Given the description of an element on the screen output the (x, y) to click on. 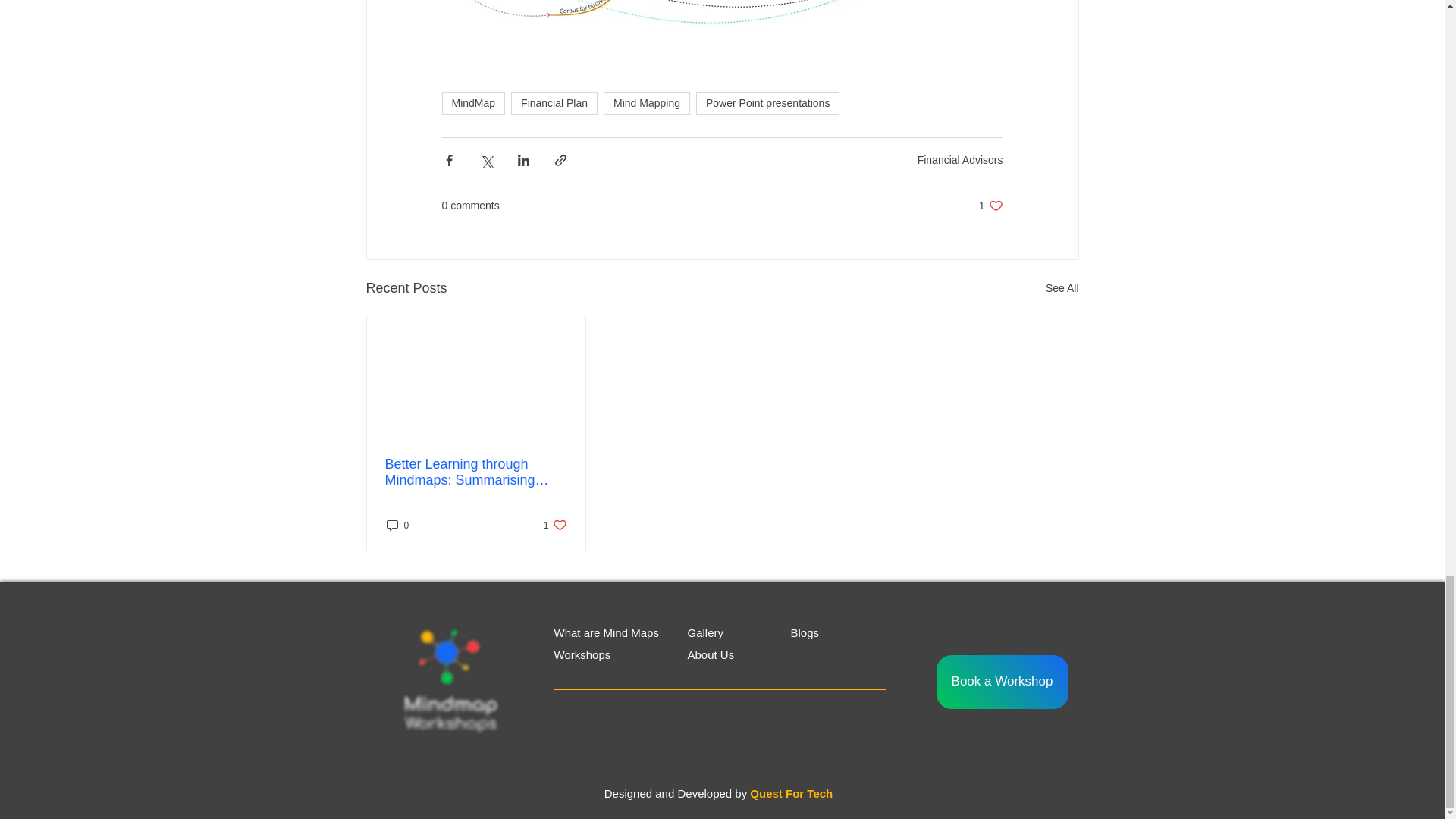
Book a Workshop (1001, 682)
About Us (990, 205)
What are Mind Maps (710, 654)
Financial Advisors (605, 632)
Blogs (960, 159)
Financial Plan (804, 632)
0 (553, 102)
Mind Mapping (397, 524)
